Given the description of an element on the screen output the (x, y) to click on. 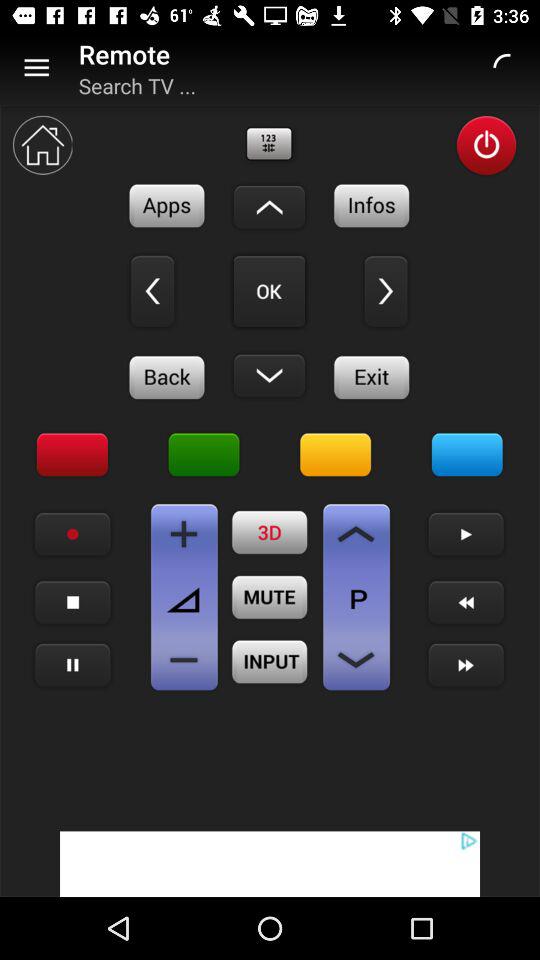
program information (371, 205)
